Given the description of an element on the screen output the (x, y) to click on. 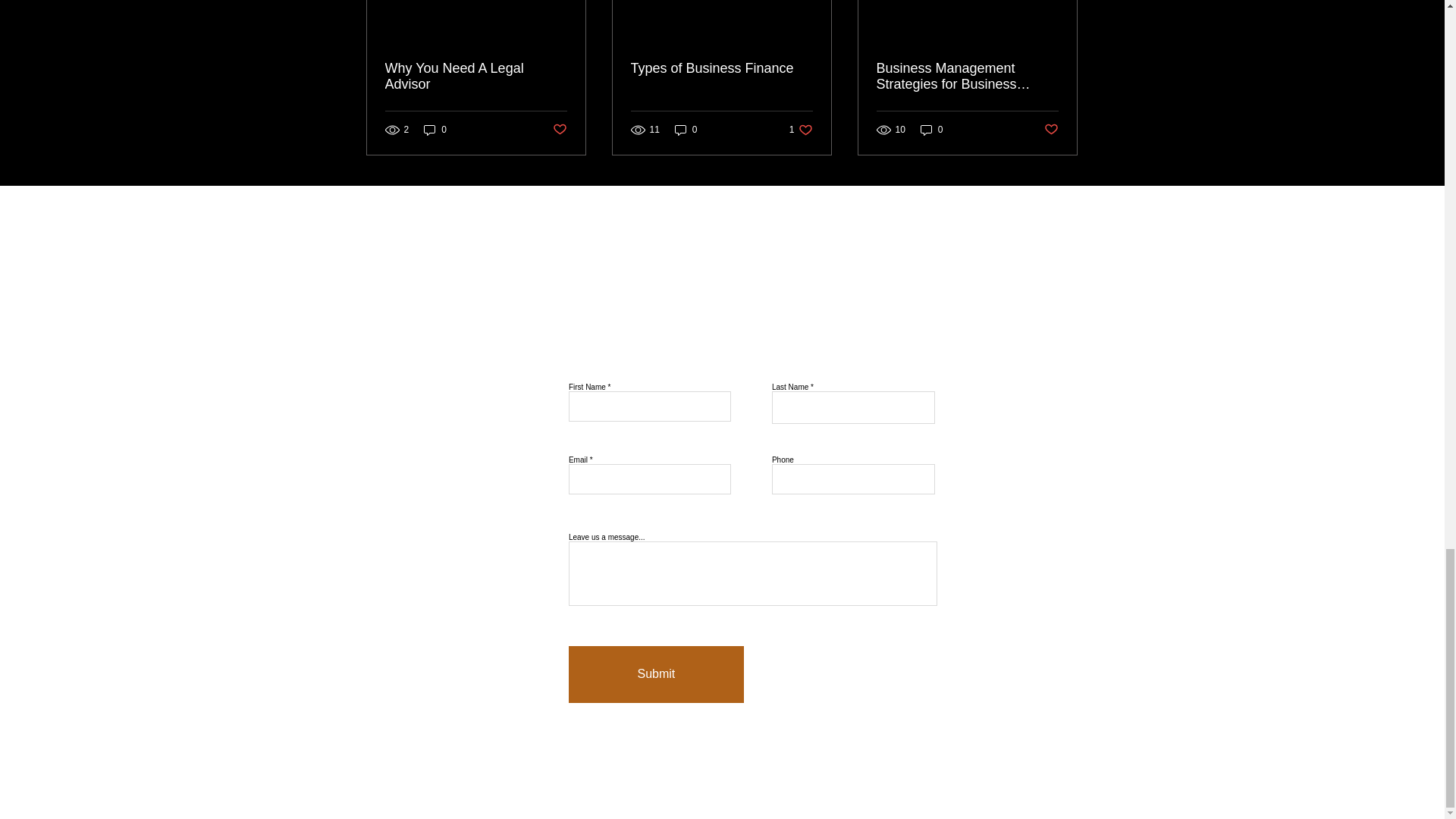
0 (435, 129)
Types of Business Finance (721, 68)
Why You Need A Legal Advisor (476, 76)
Post not marked as liked (558, 130)
